Given the description of an element on the screen output the (x, y) to click on. 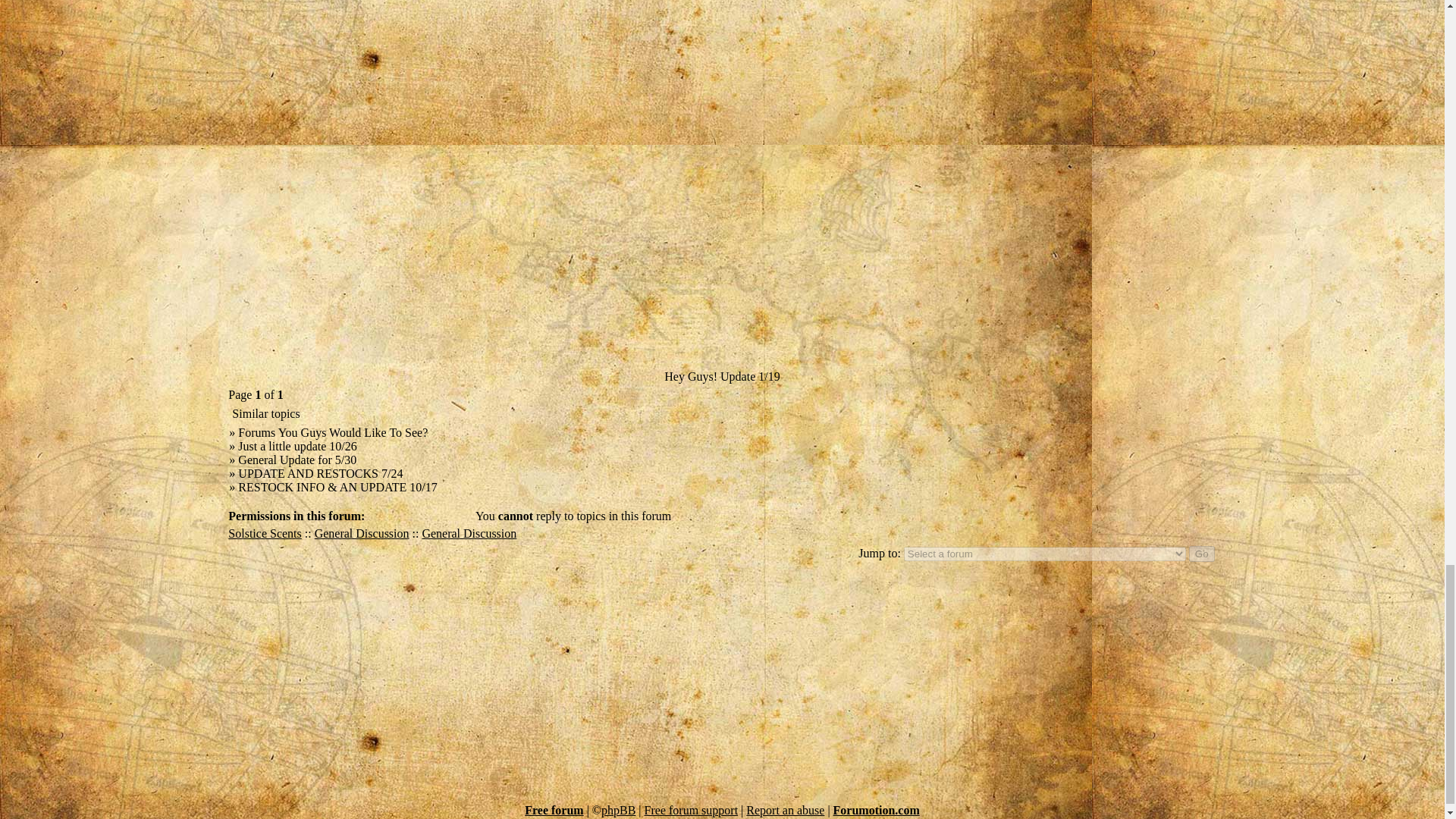
Go (1201, 553)
